Given the description of an element on the screen output the (x, y) to click on. 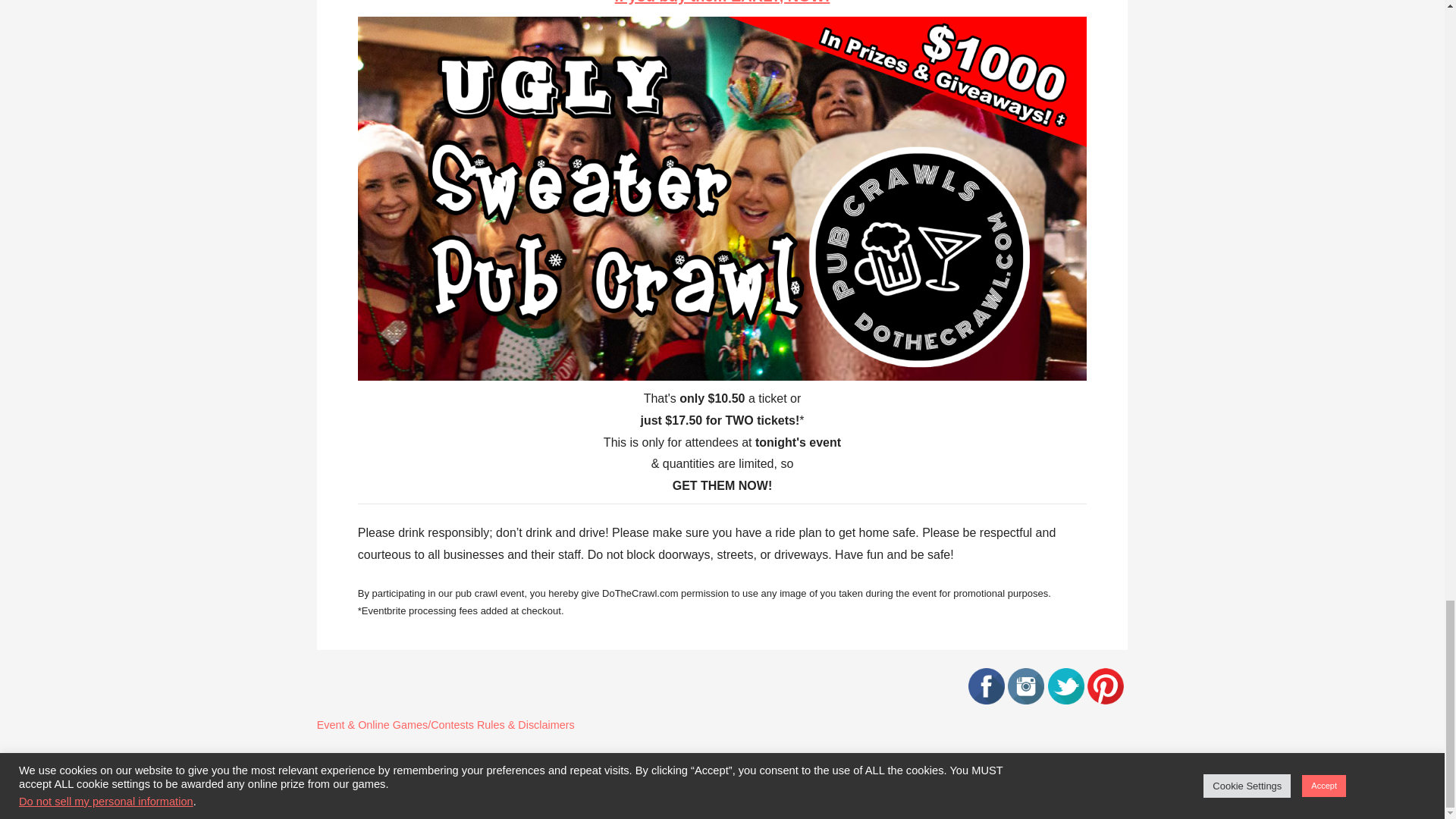
Follow us on Facebook (986, 699)
Follow us on Twitter (1066, 699)
Follow us on Pinterest (1105, 699)
Follow us on Instagram (1025, 699)
